Given the description of an element on the screen output the (x, y) to click on. 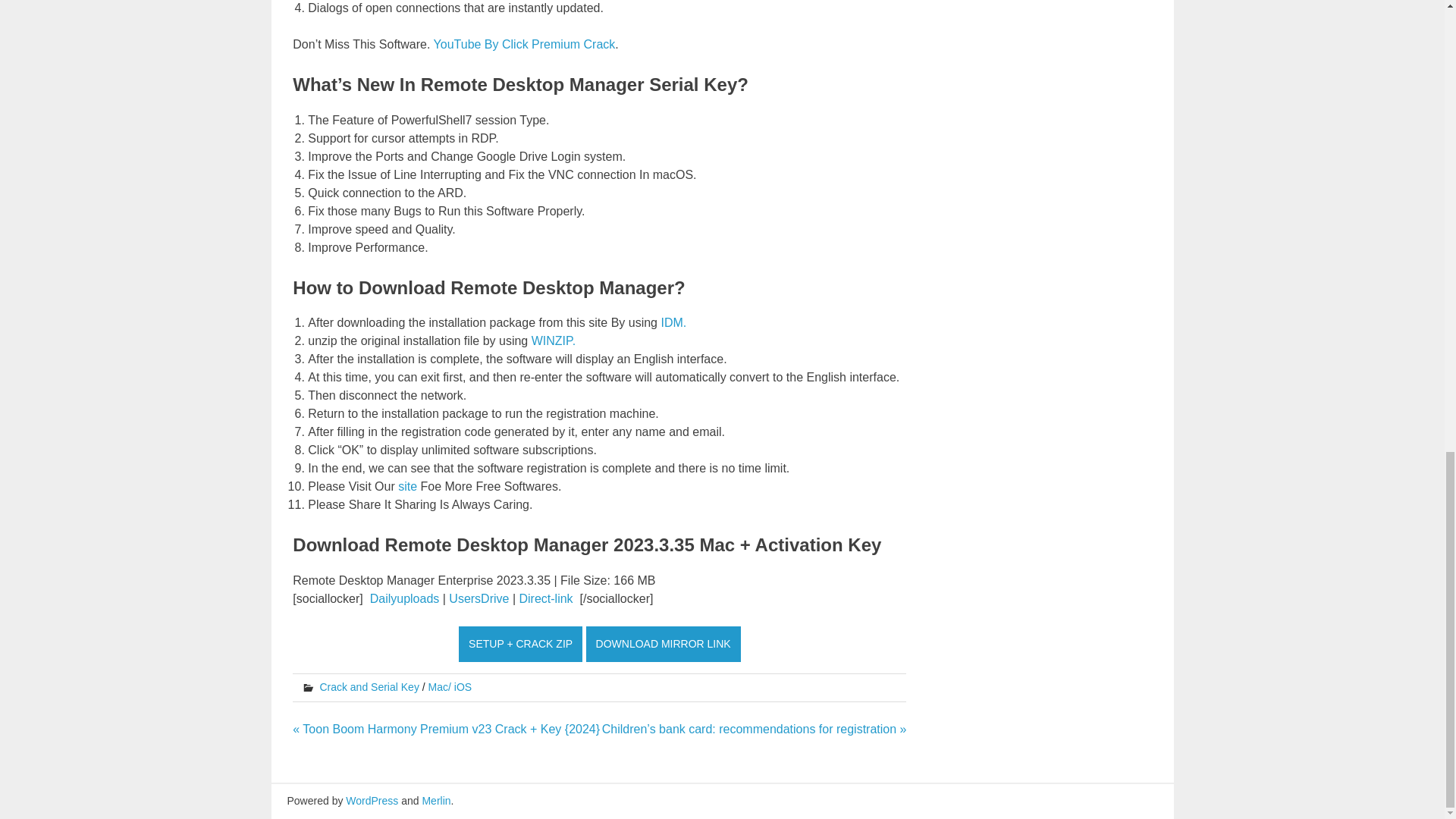
IDM. (673, 322)
site (406, 486)
WINZIP. (553, 340)
YouTube By Click Premium Crack (524, 43)
WordPress (371, 800)
Merlin WordPress Theme (435, 800)
